Given the description of an element on the screen output the (x, y) to click on. 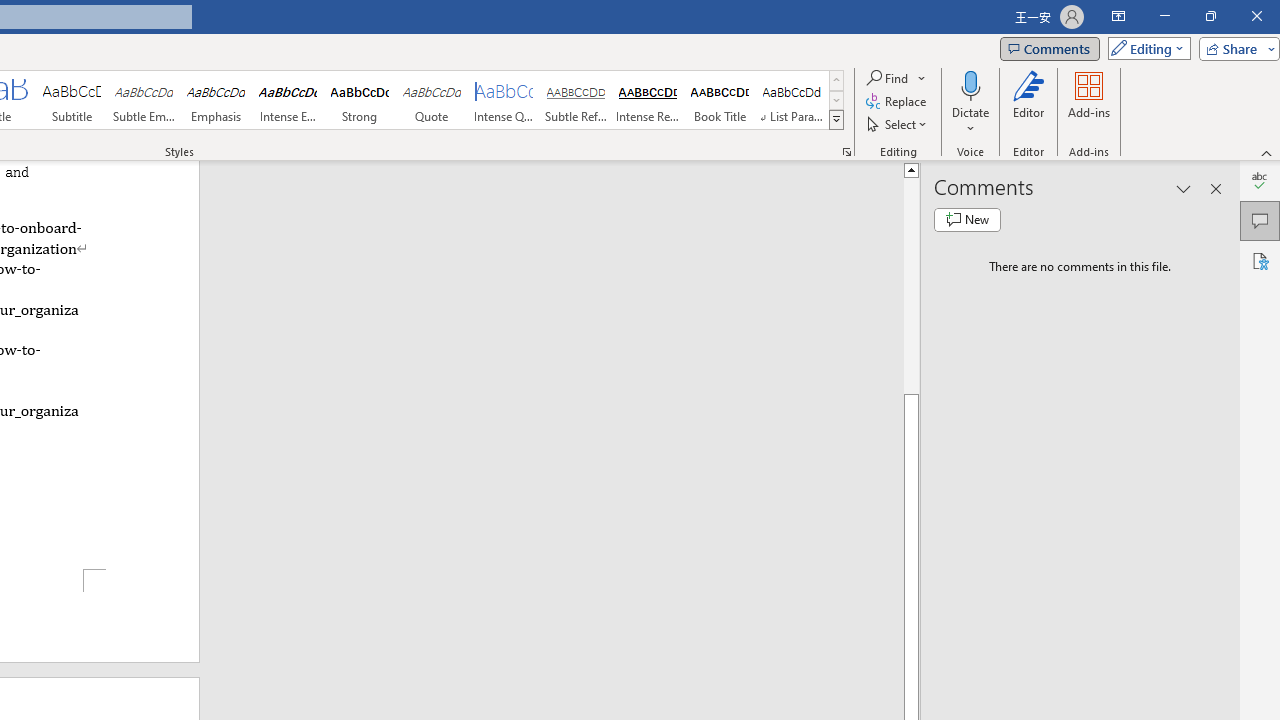
Collapse the Ribbon (1267, 152)
Subtle Emphasis (143, 100)
Select (898, 124)
Intense Quote (504, 100)
Find (896, 78)
Editor (1028, 102)
Row up (836, 79)
Class: NetUIImage (836, 119)
Minimize (1164, 16)
Replace... (897, 101)
Intense Emphasis (287, 100)
New comment (967, 219)
Emphasis (216, 100)
